Given the description of an element on the screen output the (x, y) to click on. 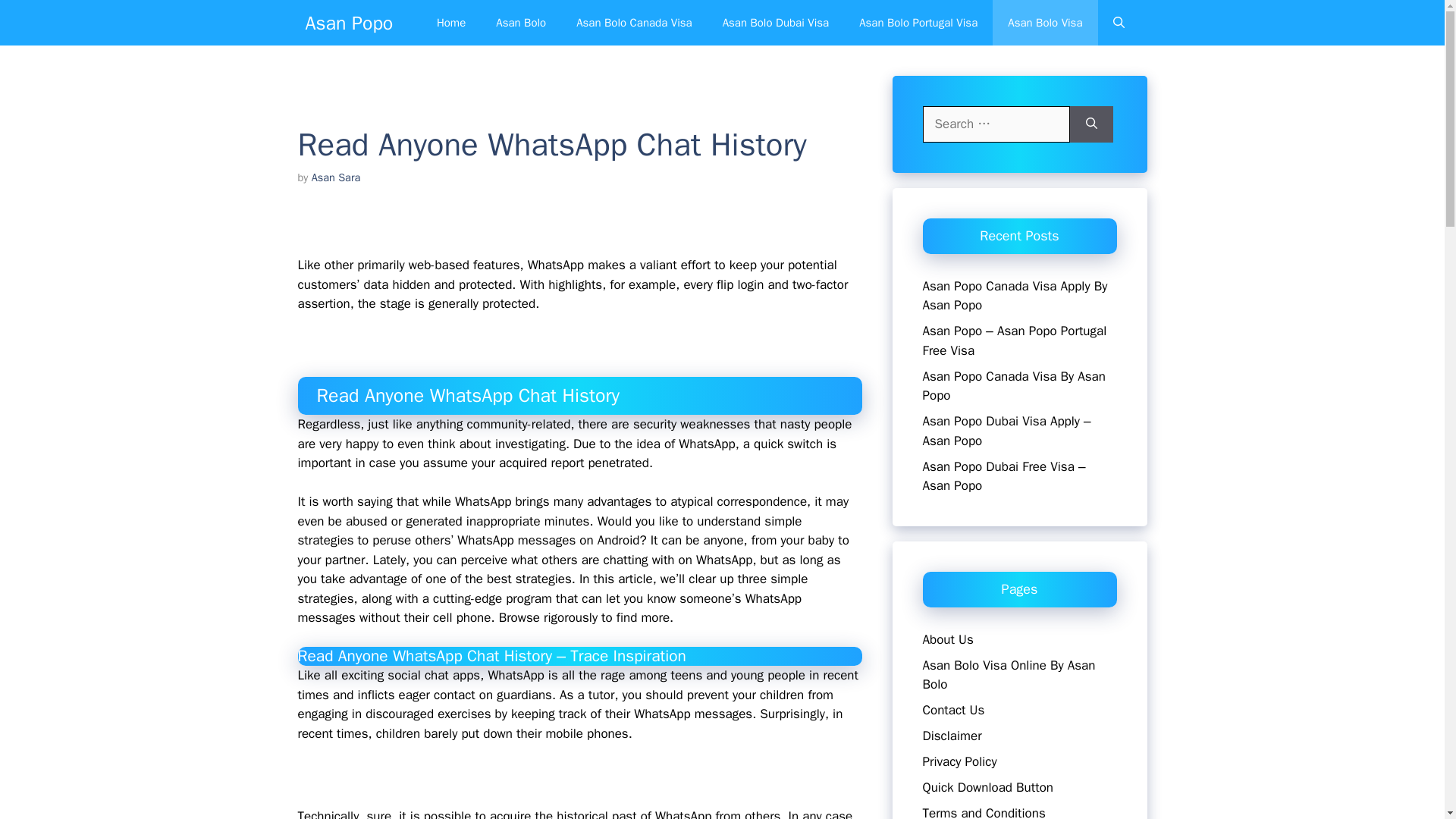
Search for: (994, 124)
Asan Bolo Visa Online By Asan Bolo (1007, 674)
Asan Sara (336, 177)
View all posts by Asan Sara (336, 177)
Asan Bolo Canada Visa (633, 22)
Asan Bolo Visa (1044, 22)
About Us (946, 638)
Asan Popo Canada Visa By Asan Popo (1013, 386)
Asan Popo Canada Visa Apply By Asan Popo (1013, 294)
Asan Popo (348, 22)
Privacy Policy (958, 761)
Home (451, 22)
Terms and Conditions (983, 812)
Quick Download Button (986, 787)
Asan Bolo Dubai Visa (775, 22)
